Given the description of an element on the screen output the (x, y) to click on. 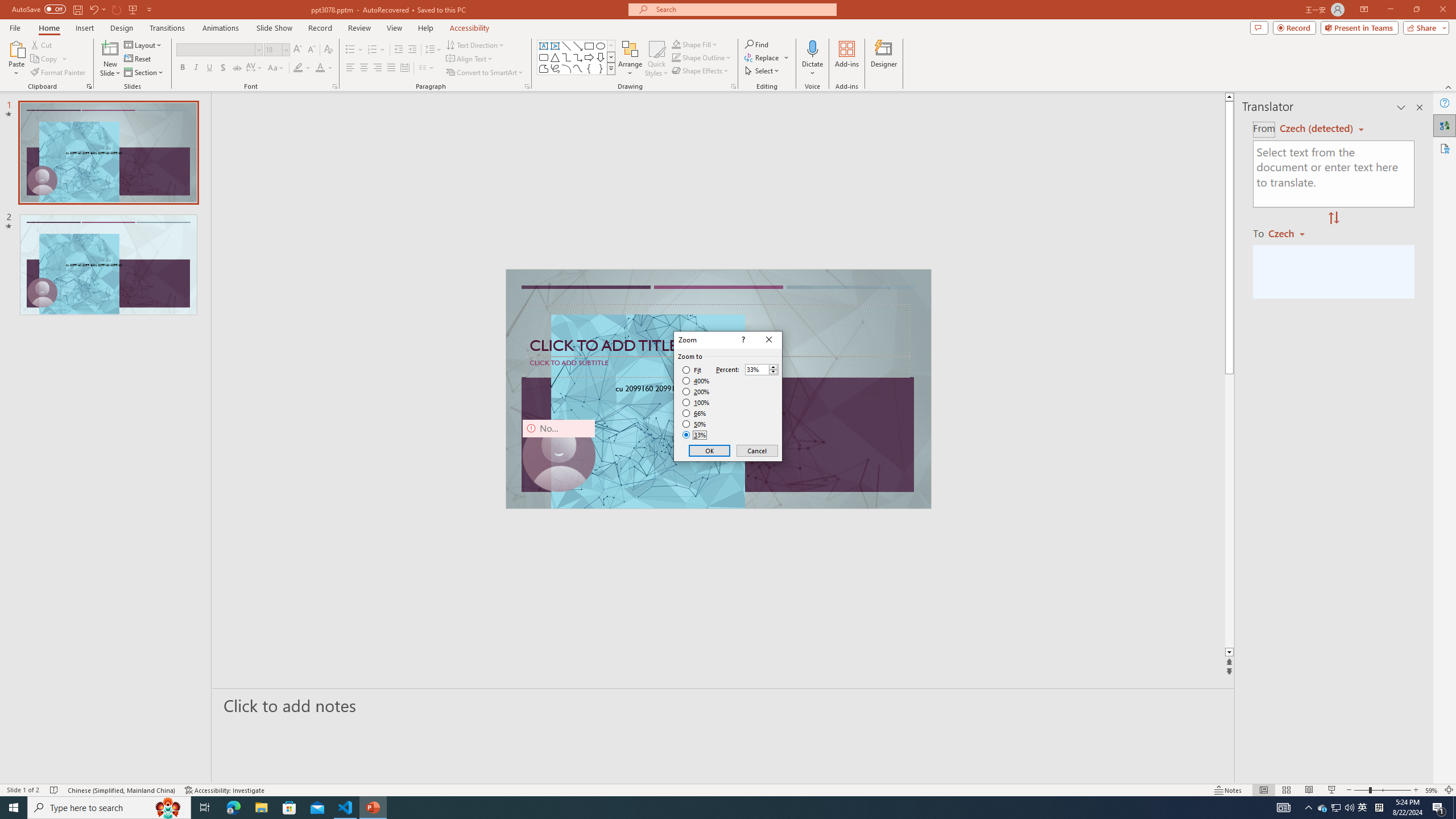
Office Clipboard... (88, 85)
Italic (195, 67)
66% (694, 412)
Align Right (377, 67)
